Given the description of an element on the screen output the (x, y) to click on. 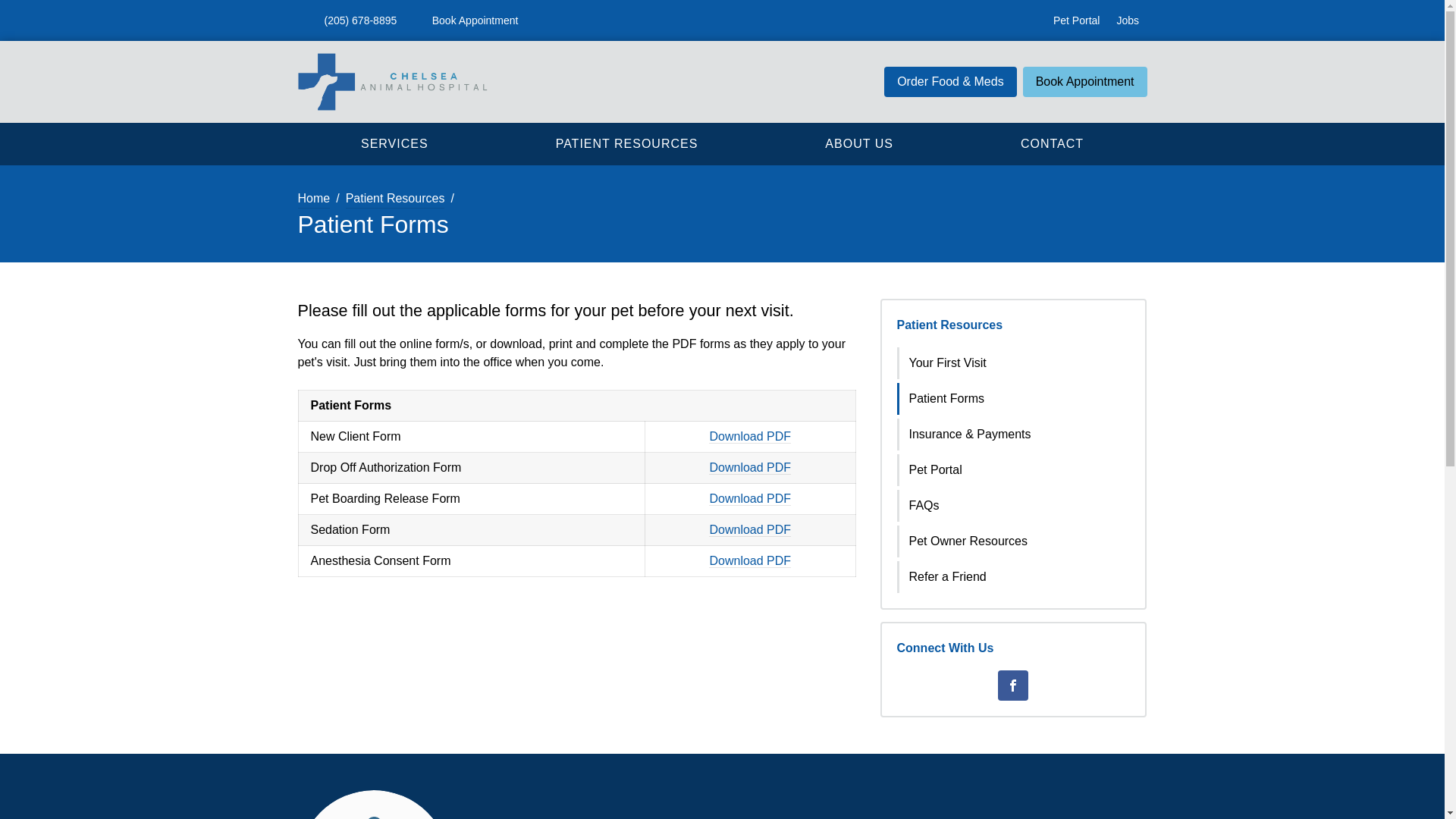
Home (313, 198)
Patient Resources (949, 324)
Facebook (1012, 685)
SERVICES (394, 143)
Download PDF (749, 561)
Book Appointment (465, 20)
Jobs (1127, 20)
Pet Portal (1075, 20)
Download PDF (749, 530)
Your First Visit (1015, 363)
